Given the description of an element on the screen output the (x, y) to click on. 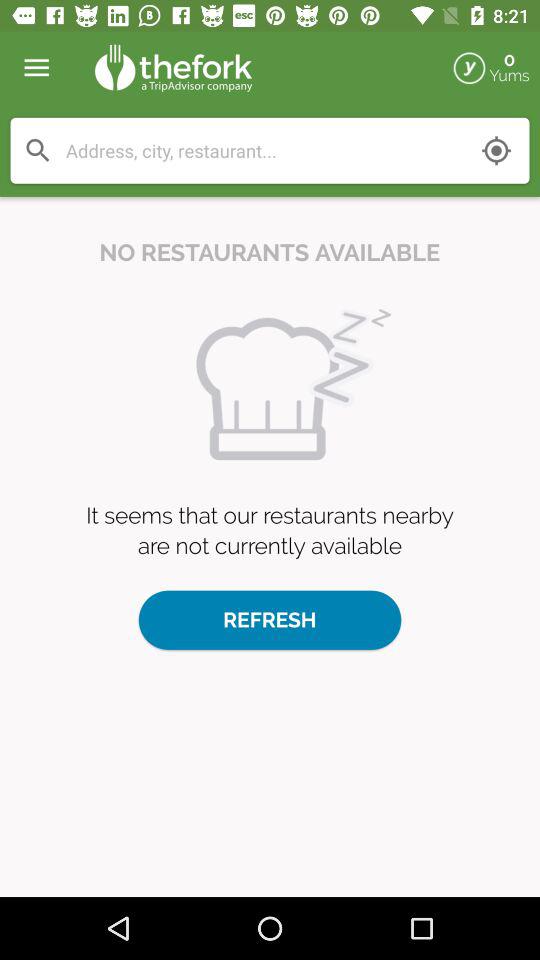
mark my location (496, 150)
